Given the description of an element on the screen output the (x, y) to click on. 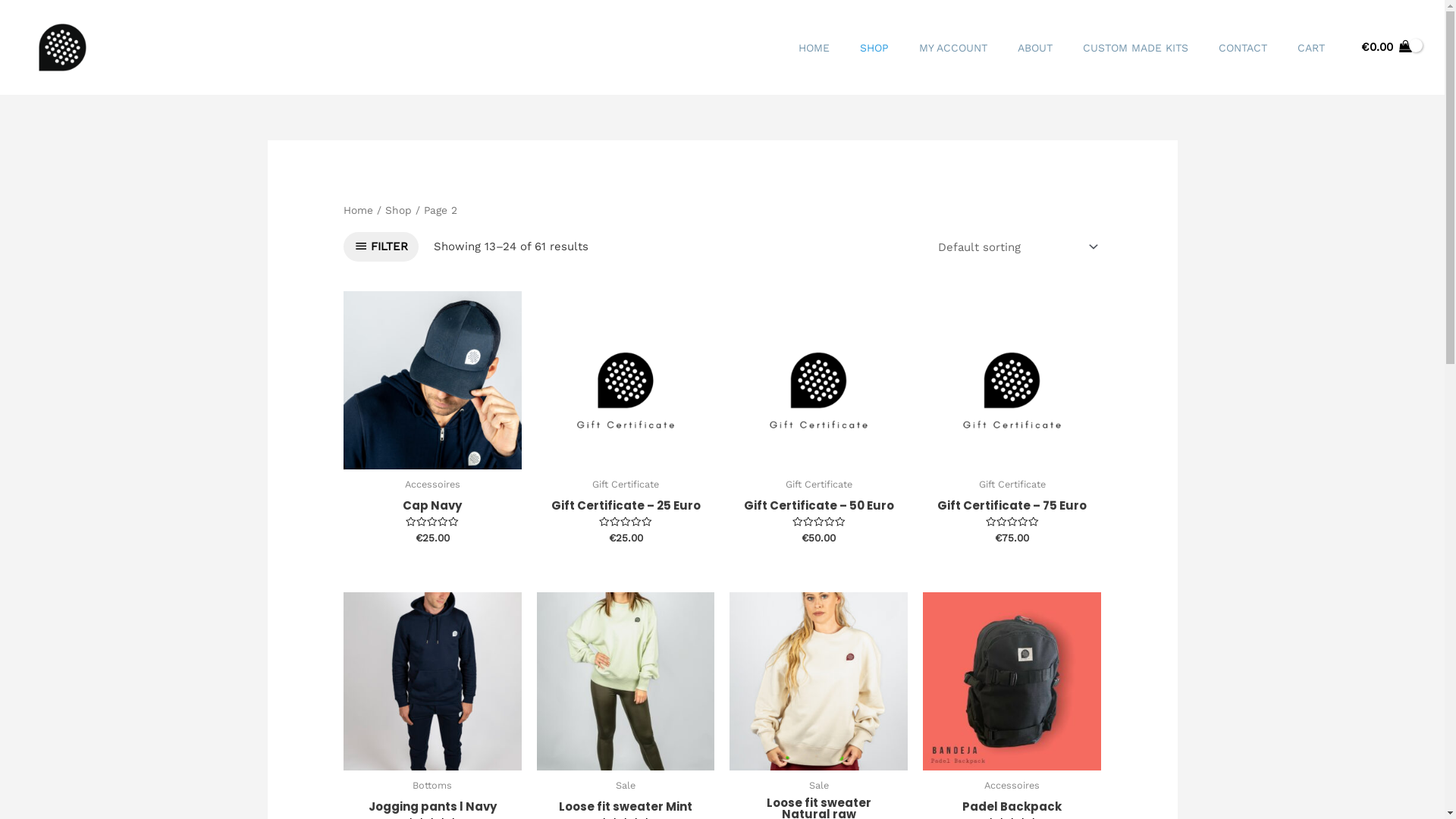
MY ACCOUNT Element type: text (952, 46)
HOME Element type: text (813, 46)
FILTER Element type: text (380, 246)
Cap Navy Element type: text (431, 508)
CONTACT Element type: text (1242, 46)
Jogging pants l Navy Element type: text (432, 809)
SHOP Element type: text (873, 46)
Loose fit sweater Mint Element type: text (625, 809)
CUSTOM MADE KITS Element type: text (1135, 46)
ABOUT Element type: text (1034, 46)
Padel Backpack Element type: text (1011, 809)
Home Element type: text (358, 209)
CART Element type: text (1310, 46)
Shop Element type: text (398, 209)
